Given the description of an element on the screen output the (x, y) to click on. 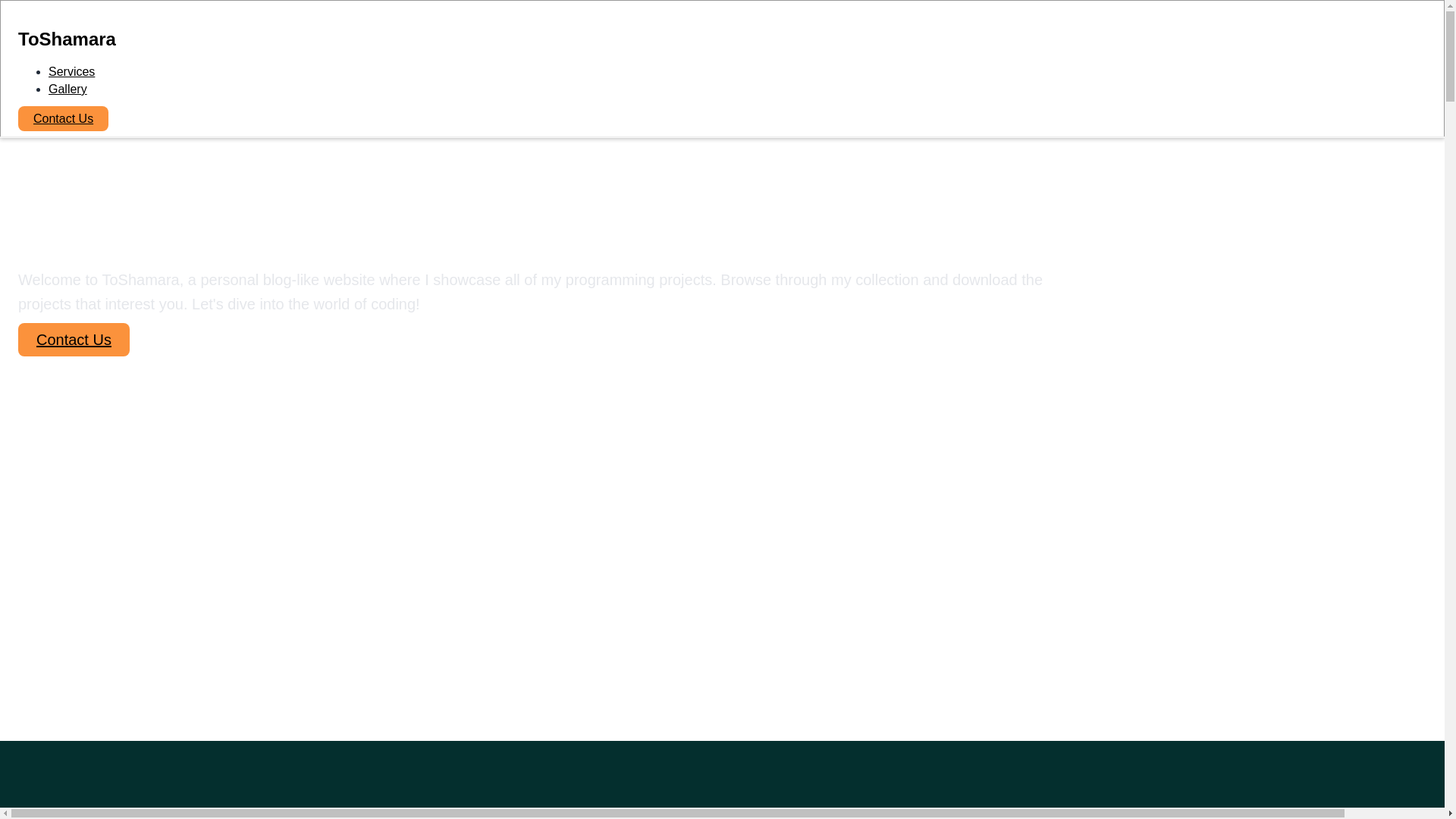
Gallery (67, 88)
ToShamara (453, 30)
Services (71, 71)
Contact Us (73, 356)
Contact Us (62, 118)
